Given the description of an element on the screen output the (x, y) to click on. 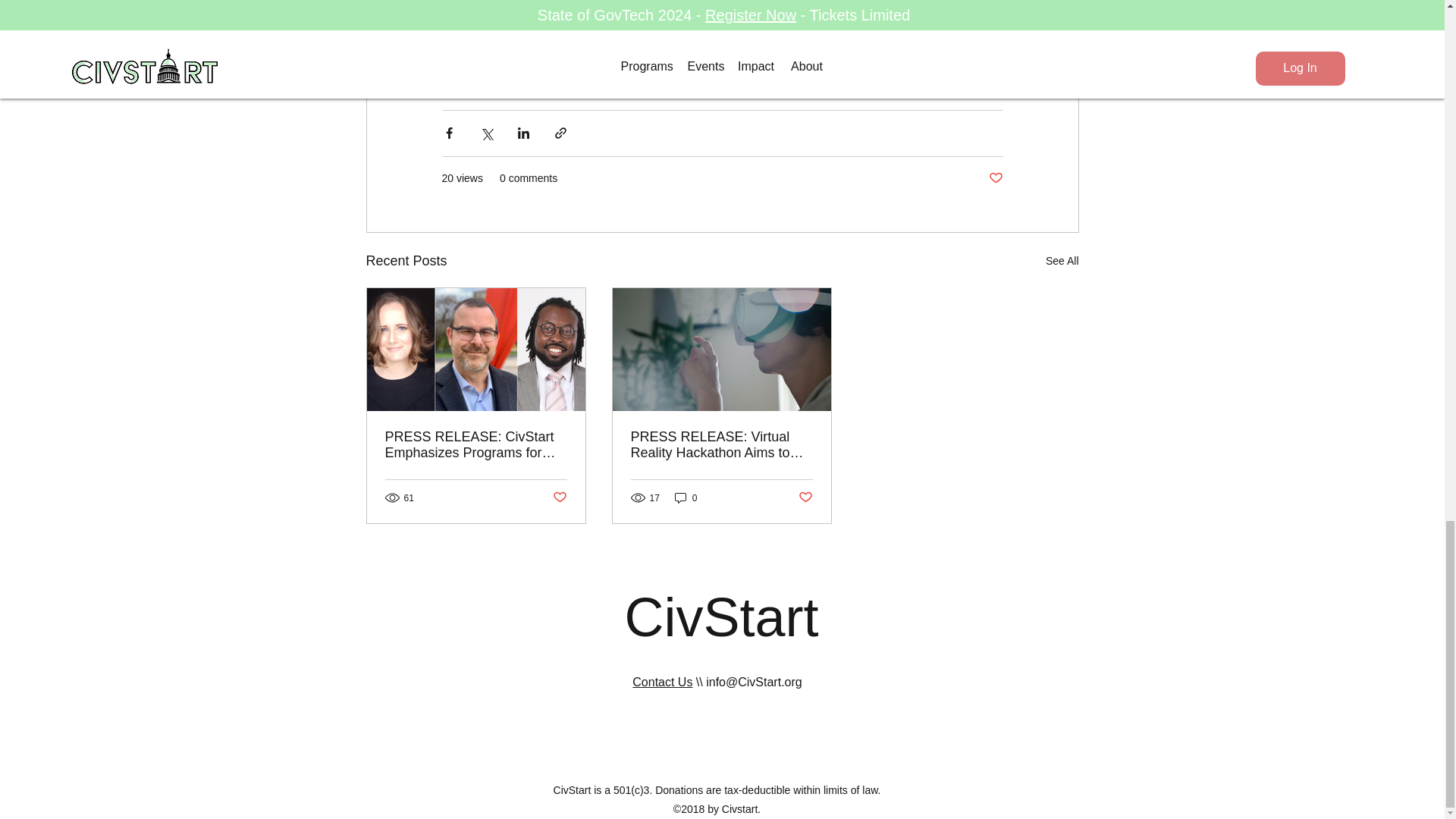
CivStart (721, 617)
See All (1061, 260)
Post not marked as liked (995, 178)
Post not marked as liked (804, 497)
Post not marked as liked (558, 497)
0 (685, 497)
Contact Us (662, 681)
